Given the description of an element on the screen output the (x, y) to click on. 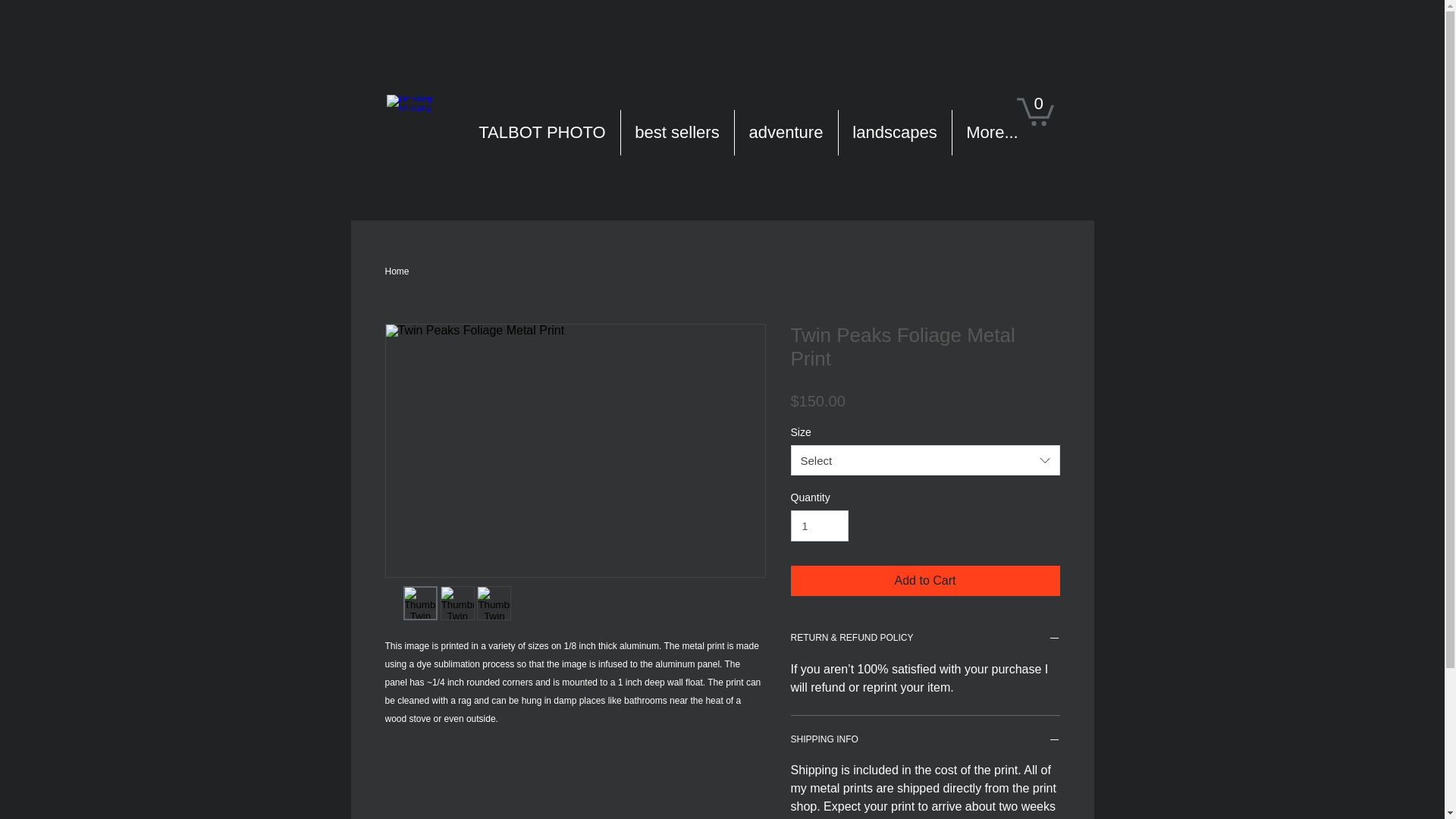
Home Element type: text (397, 271)
RETURN & REFUND POLICY Element type: text (924, 639)
adventure Element type: text (785, 132)
0 Element type: text (1034, 109)
Add to Cart Element type: text (924, 580)
40-min-logo-white.gif Element type: hover (425, 133)
TALBOT PHOTO Element type: text (541, 132)
Select Element type: text (924, 460)
best sellers Element type: text (676, 132)
SHIPPING INFO Element type: text (924, 741)
landscapes Element type: text (894, 132)
